Given the description of an element on the screen output the (x, y) to click on. 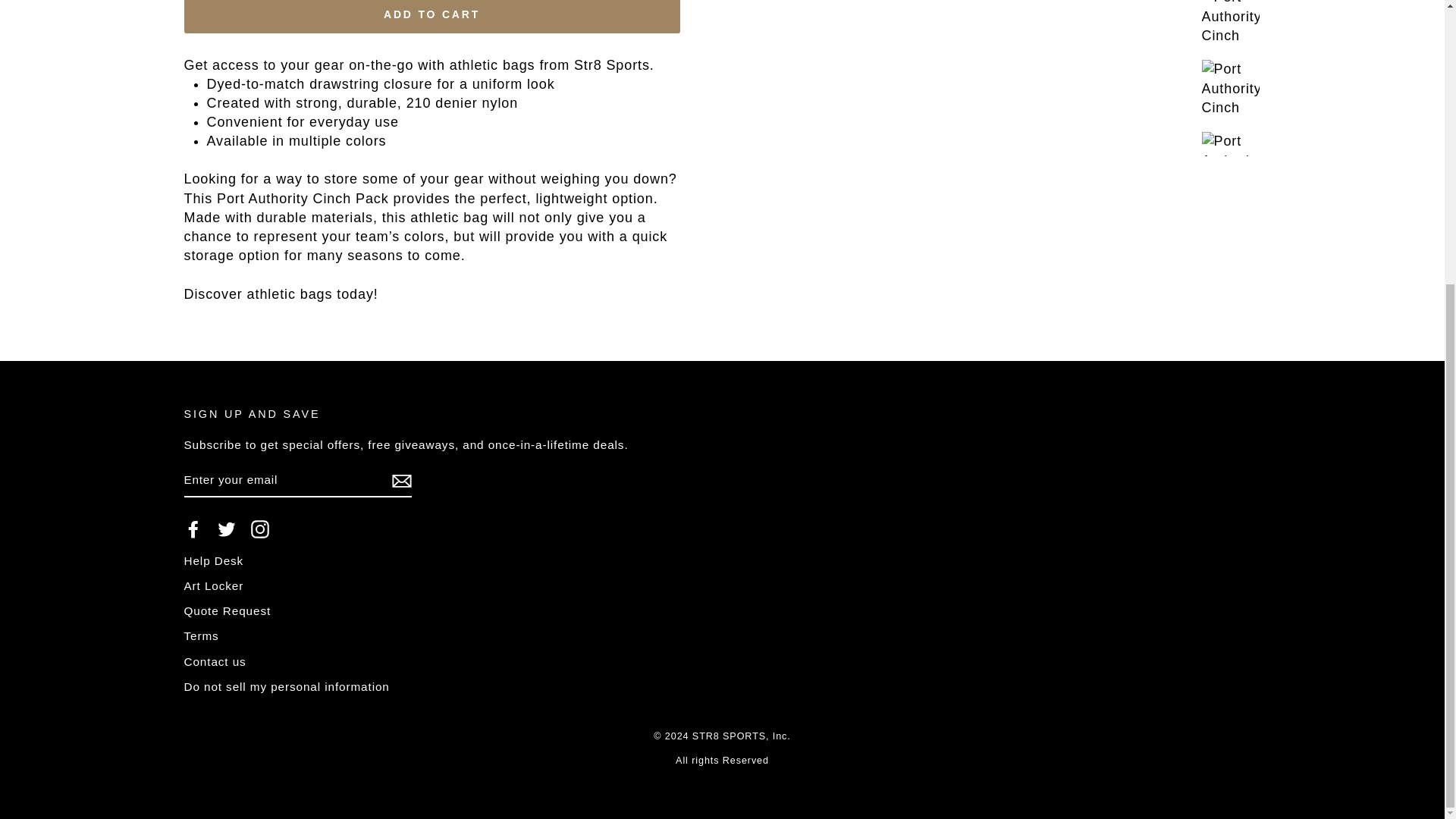
STR8 SPORTS, Inc. on Twitter (225, 529)
STR8 SPORTS, Inc. on Facebook (192, 529)
STR8 SPORTS, Inc. on Instagram (259, 529)
